Given the description of an element on the screen output the (x, y) to click on. 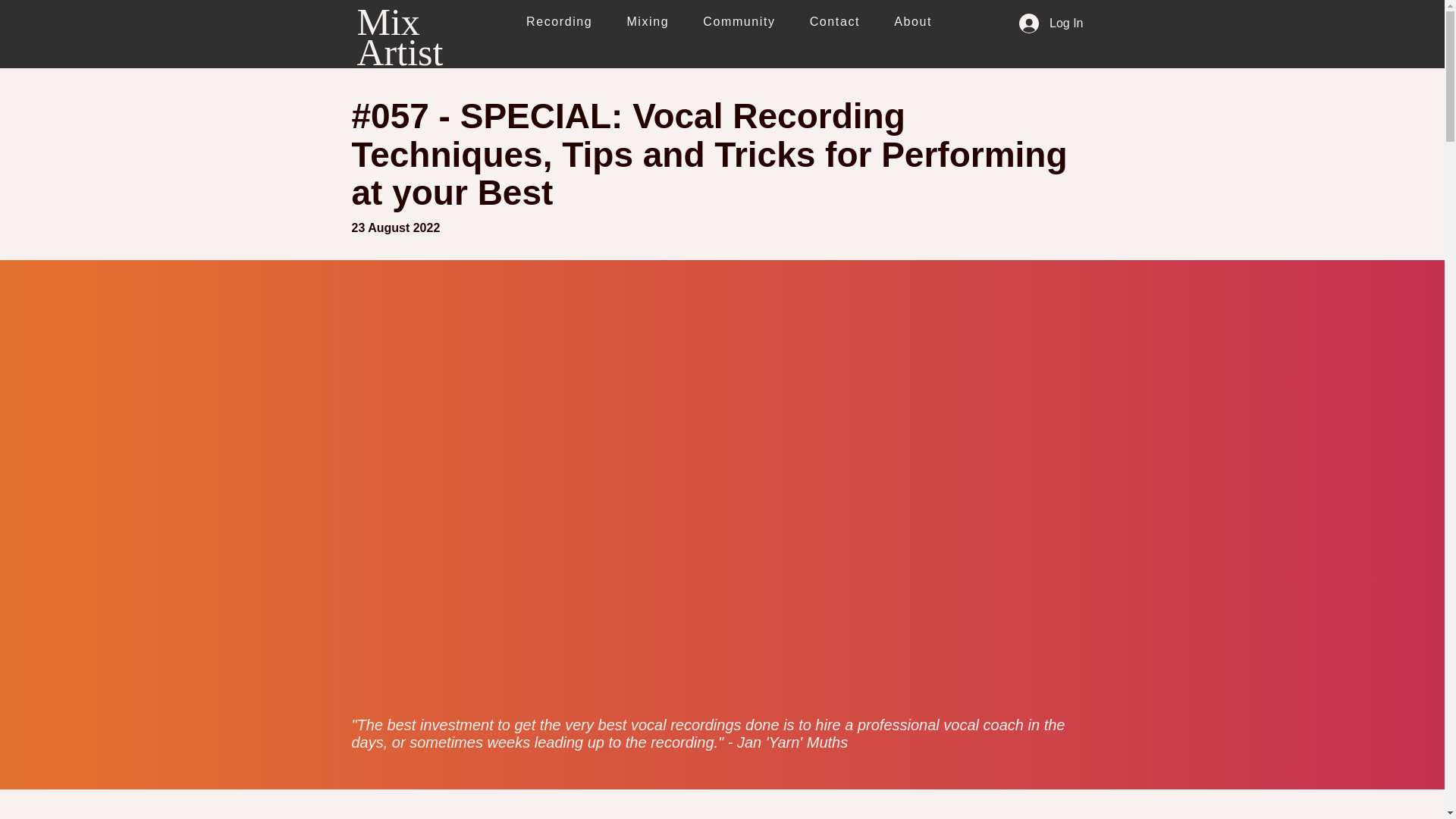
About (913, 22)
Contact (833, 22)
Mix Artist (399, 36)
Log In (1051, 23)
